Given the description of an element on the screen output the (x, y) to click on. 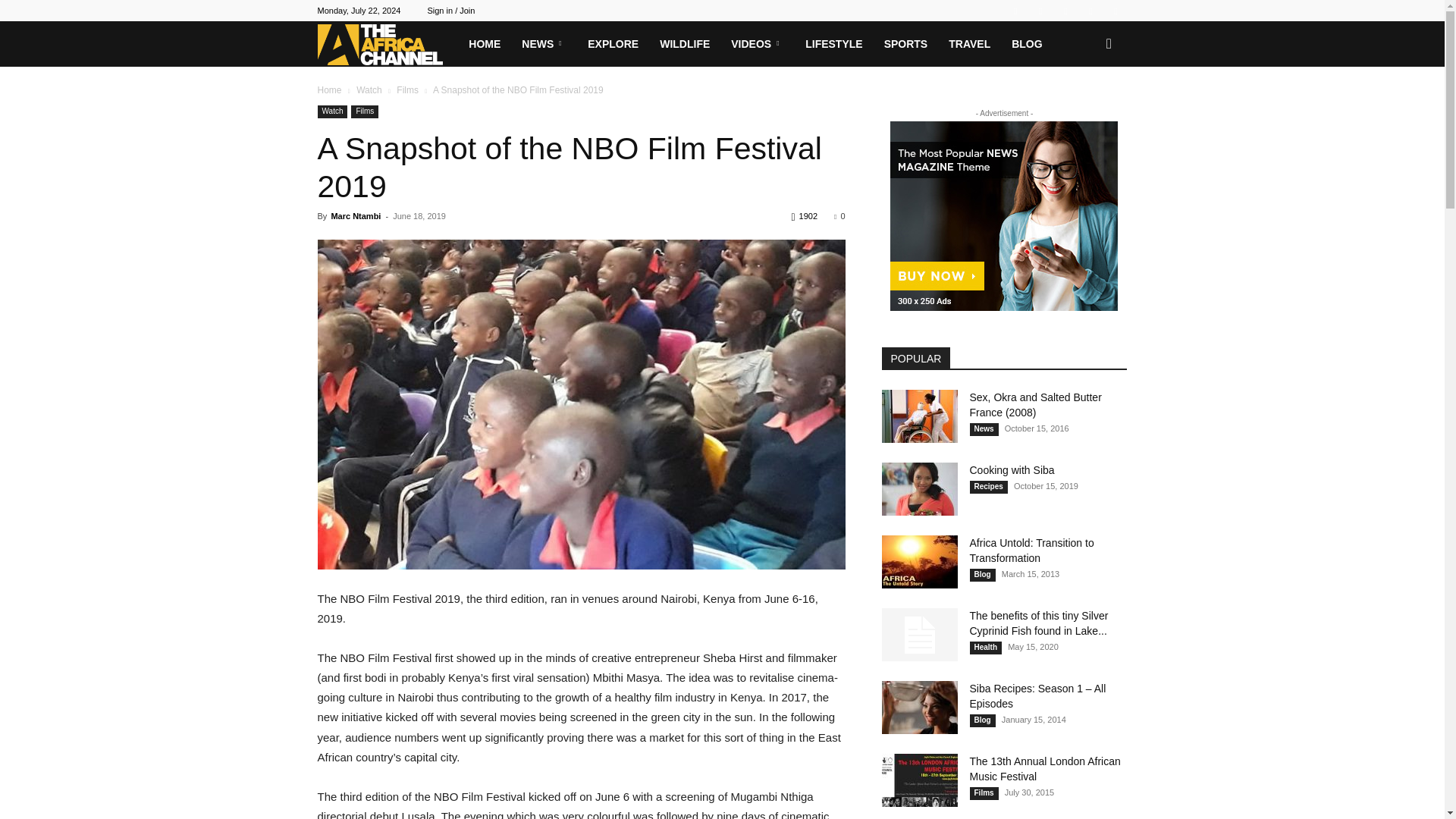
Youtube (1114, 10)
Twitter (1040, 10)
Facebook (1015, 10)
NEWS (543, 43)
View all posts in Watch (368, 90)
View all posts in Films (407, 90)
HOME (484, 43)
The Africa Channel (387, 44)
EXPLORE (612, 43)
VKontakte (1090, 10)
